Given the description of an element on the screen output the (x, y) to click on. 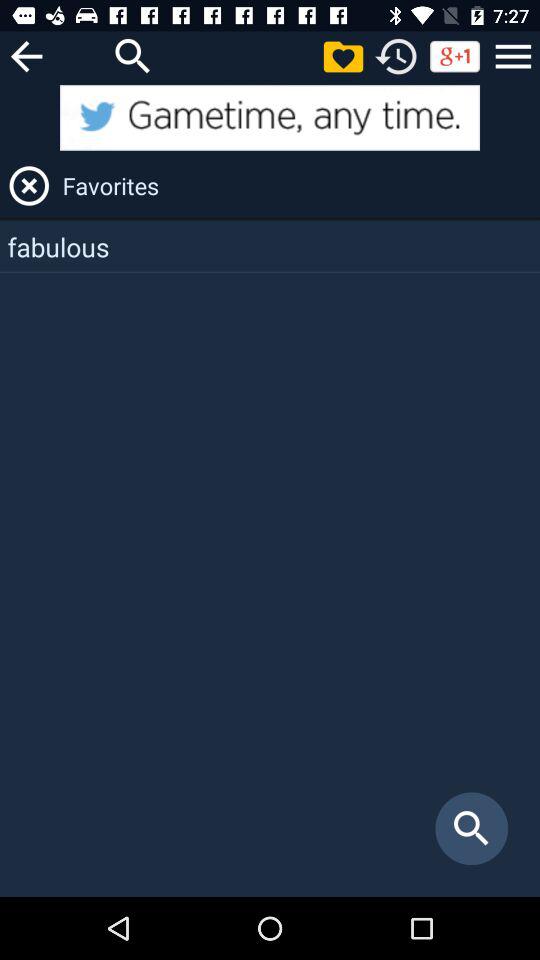
launch the app above favorites item (270, 117)
